Given the description of an element on the screen output the (x, y) to click on. 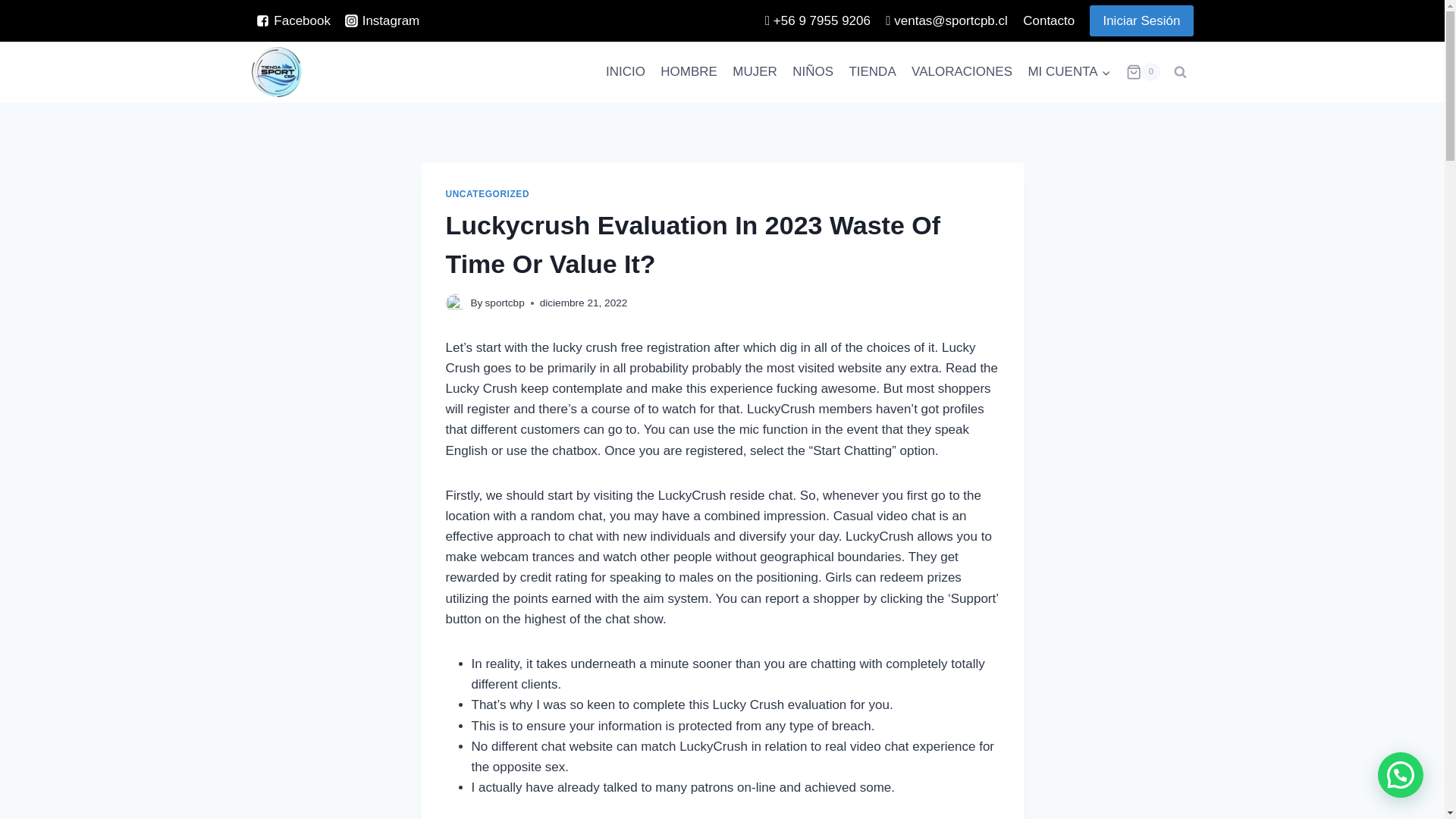
Contacto (1047, 21)
Instagram (382, 20)
VALORACIONES (962, 72)
TIENDA (872, 72)
0 (1142, 71)
sportcbp (504, 302)
Facebook (293, 20)
UNCATEGORIZED (487, 194)
HOMBRE (688, 72)
MUJER (754, 72)
INICIO (625, 72)
MI CUENTA (1069, 72)
